Given the description of an element on the screen output the (x, y) to click on. 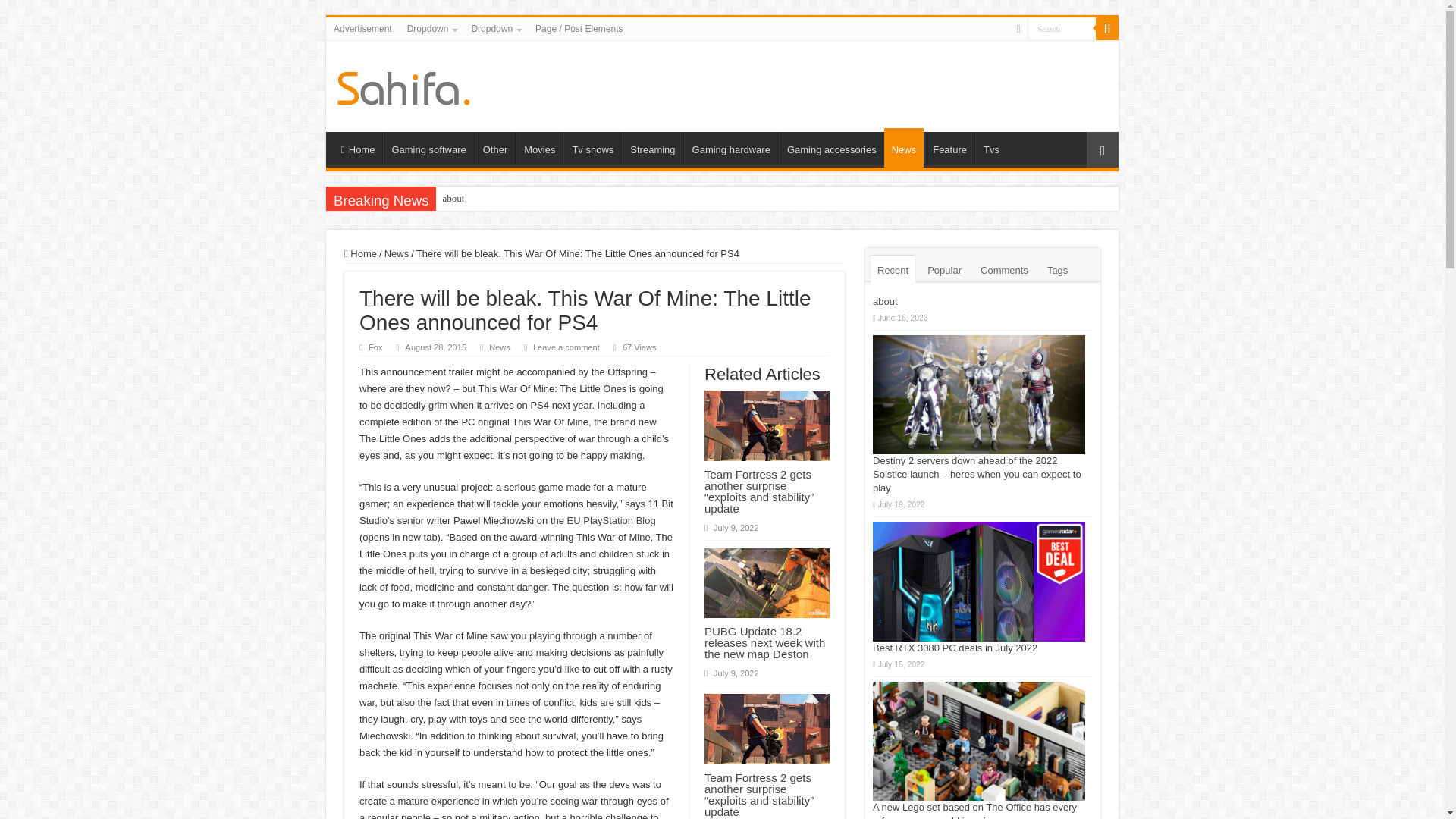
News (903, 147)
Home (357, 147)
Gaming accessories (830, 147)
Gaming software (427, 147)
Other (494, 147)
about (452, 198)
Movies (538, 147)
Search (1107, 28)
Tv shows (592, 147)
Search (1061, 28)
Streaming (651, 147)
Dropdown (431, 28)
Dropdown (495, 28)
Advertisement (362, 28)
